Given the description of an element on the screen output the (x, y) to click on. 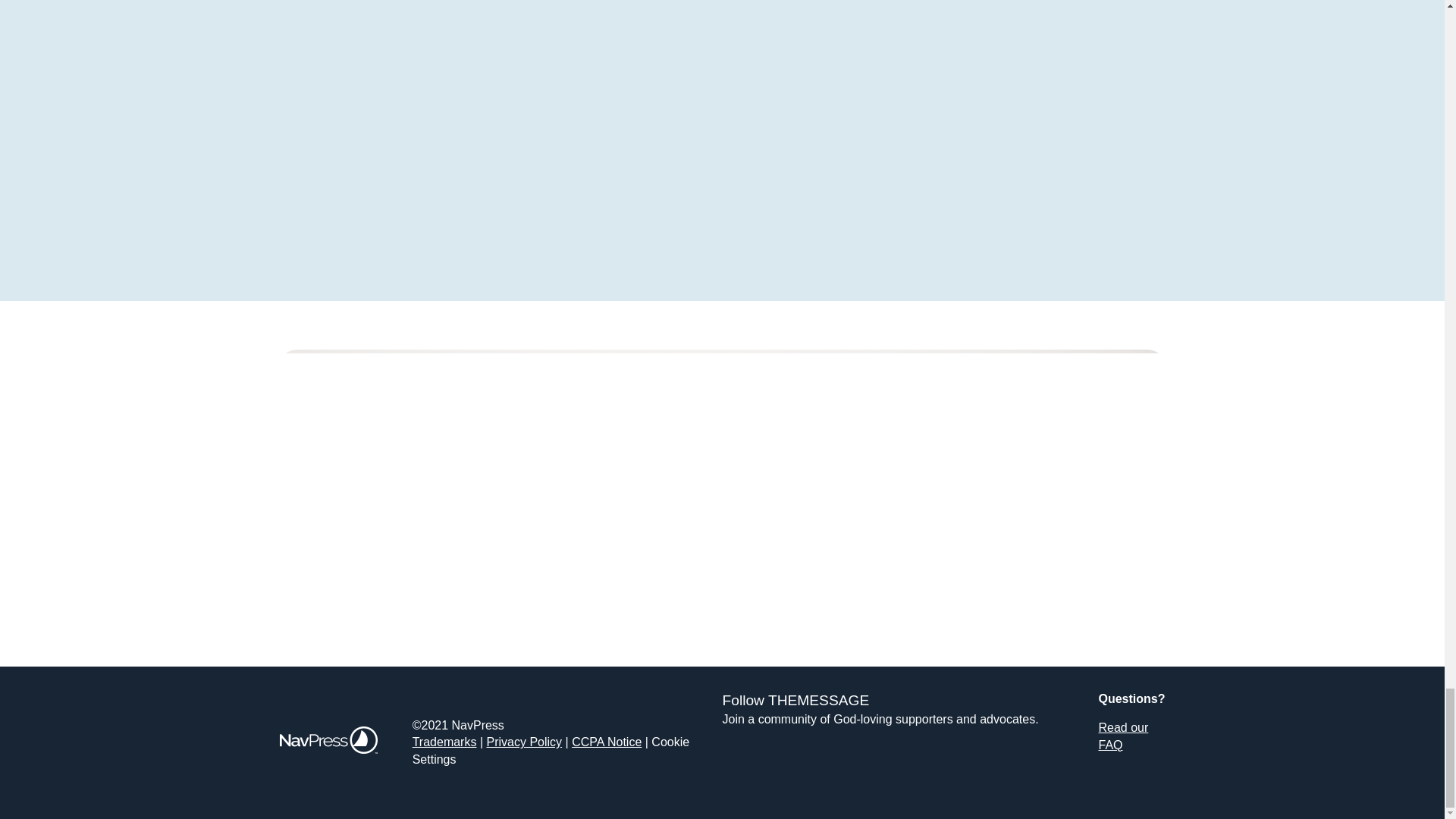
Facebook (746, 765)
CCPA Notice (607, 741)
Trademarks (444, 741)
Twitter (819, 765)
Cookie Settings (550, 749)
Instagram (892, 765)
Privacy Policy (524, 741)
Read our FAQ (1122, 736)
